Given the description of an element on the screen output the (x, y) to click on. 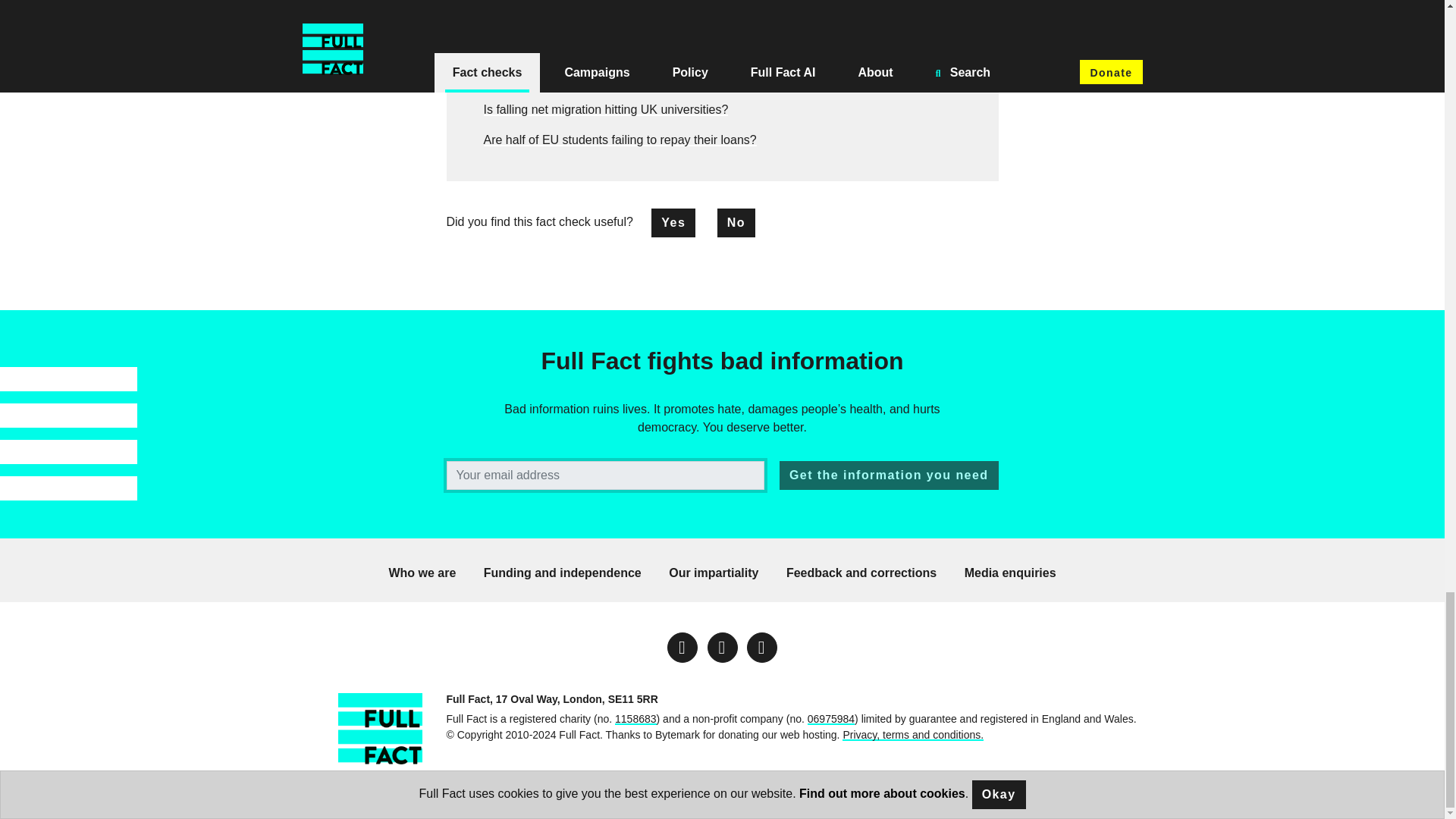
Is falling net migration hitting UK universities? (606, 109)
Are half of EU students failing to repay their loans? (620, 139)
Link opens in a new window (681, 647)
Link opens in a new window (761, 647)
Link opens in a new window (721, 647)
